Given the description of an element on the screen output the (x, y) to click on. 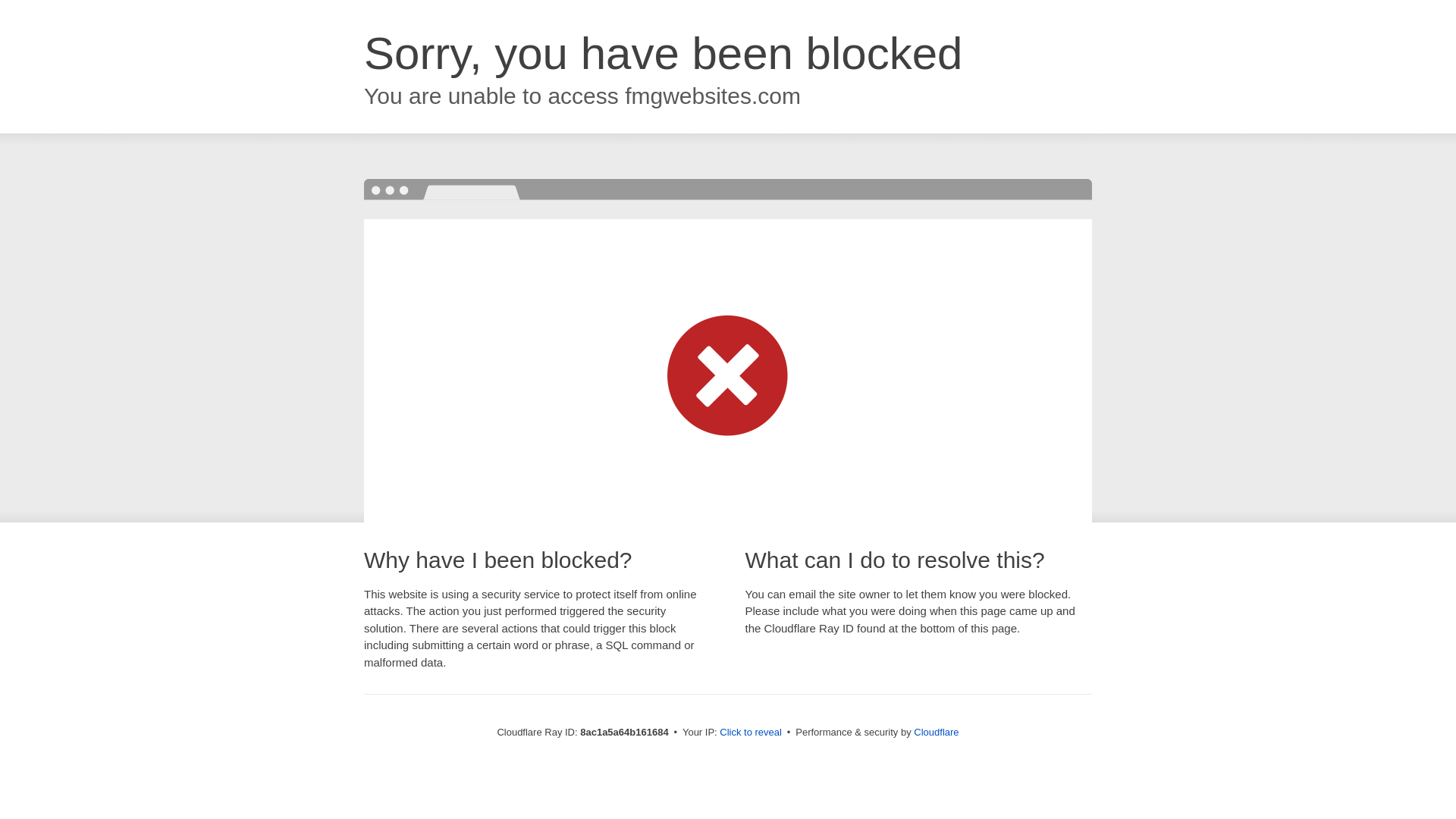
Cloudflare (936, 731)
Click to reveal (750, 732)
